Given the description of an element on the screen output the (x, y) to click on. 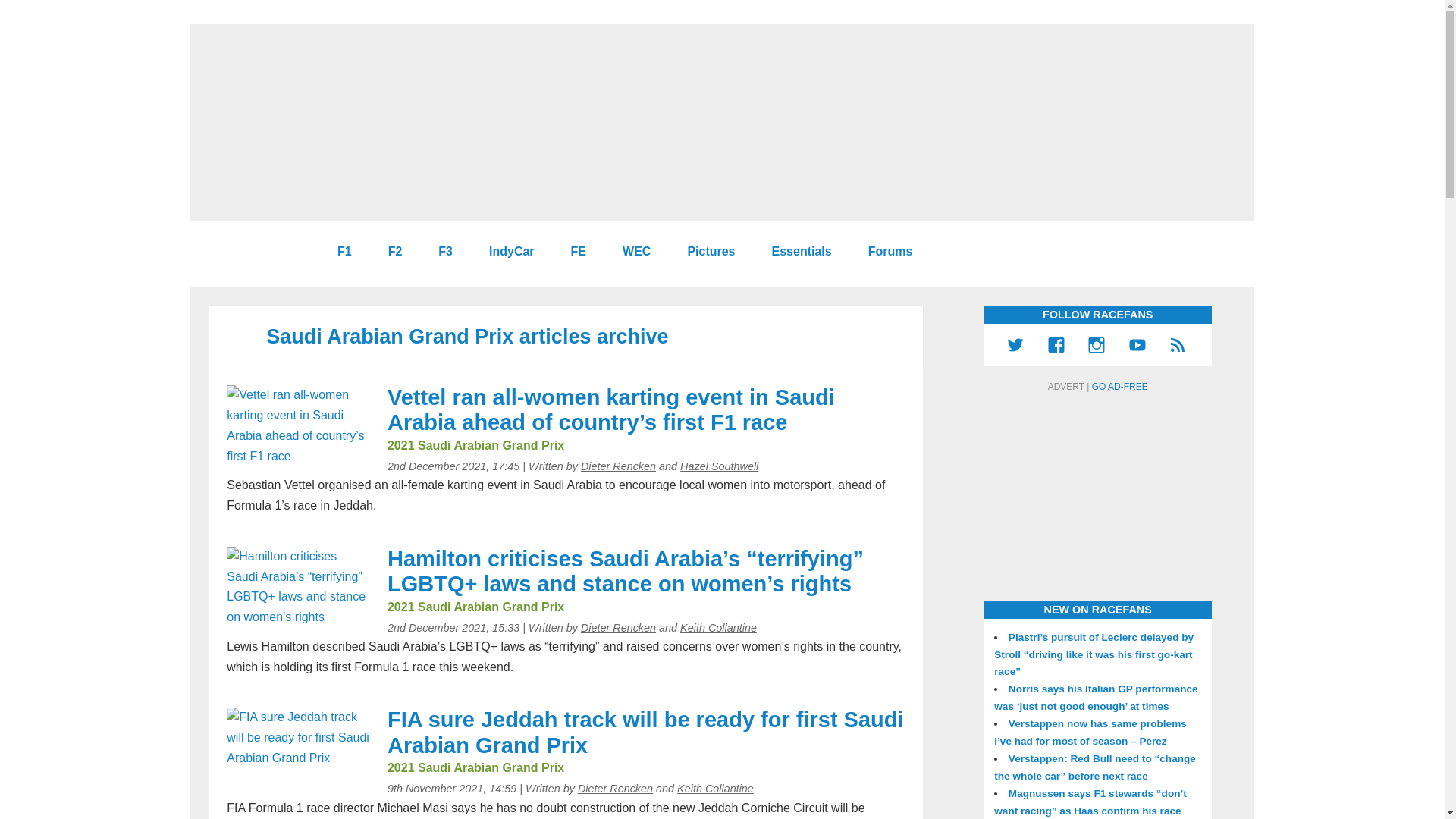
Pictures (704, 251)
F1 (338, 251)
Formula 3 (438, 251)
Formula 2 (389, 251)
IndyCar (505, 251)
F2 (389, 251)
Formula 1 (338, 251)
Essentials (796, 251)
FE (572, 251)
World Endurance Championship (630, 251)
